Given the description of an element on the screen output the (x, y) to click on. 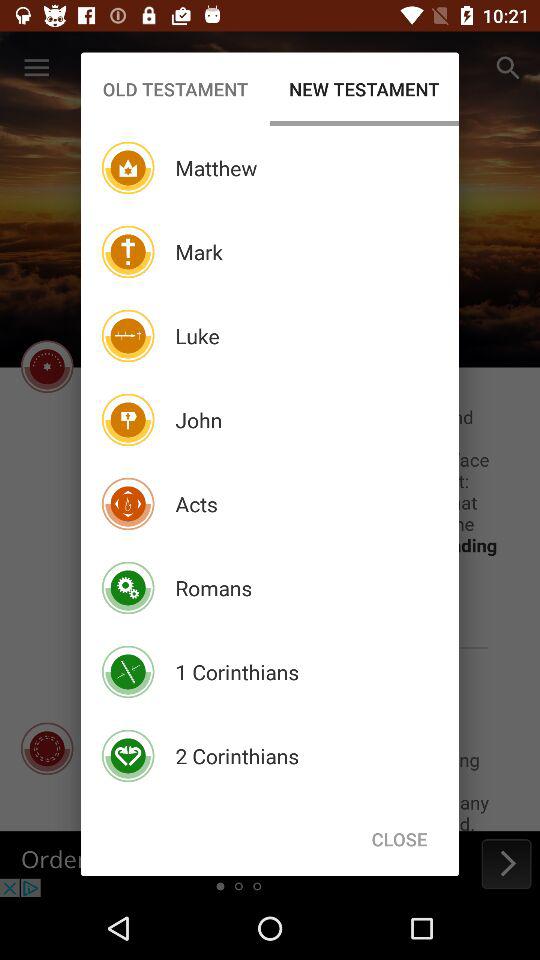
turn on the luke icon (197, 335)
